Given the description of an element on the screen output the (x, y) to click on. 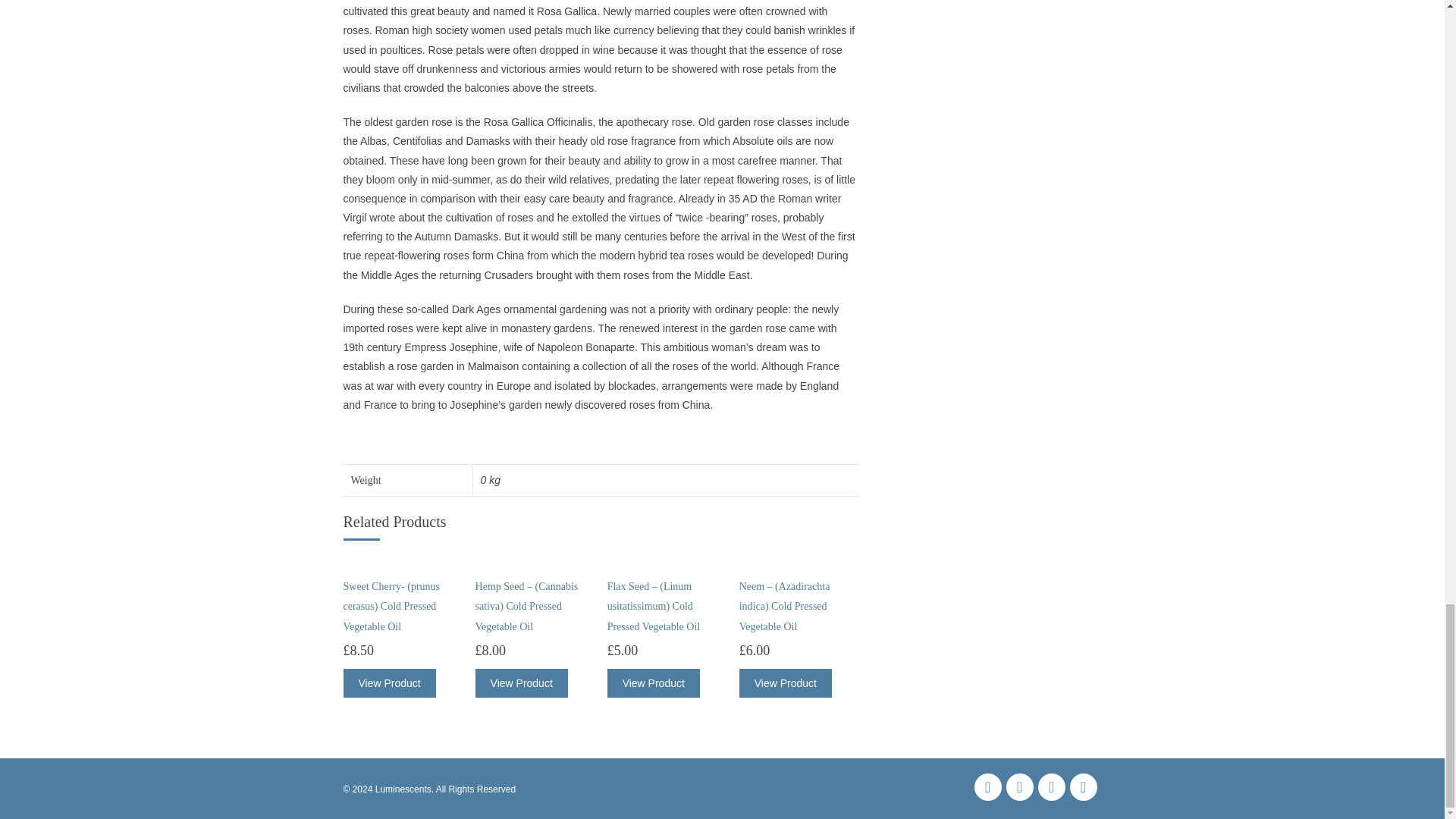
View Product (388, 683)
